Given the description of an element on the screen output the (x, y) to click on. 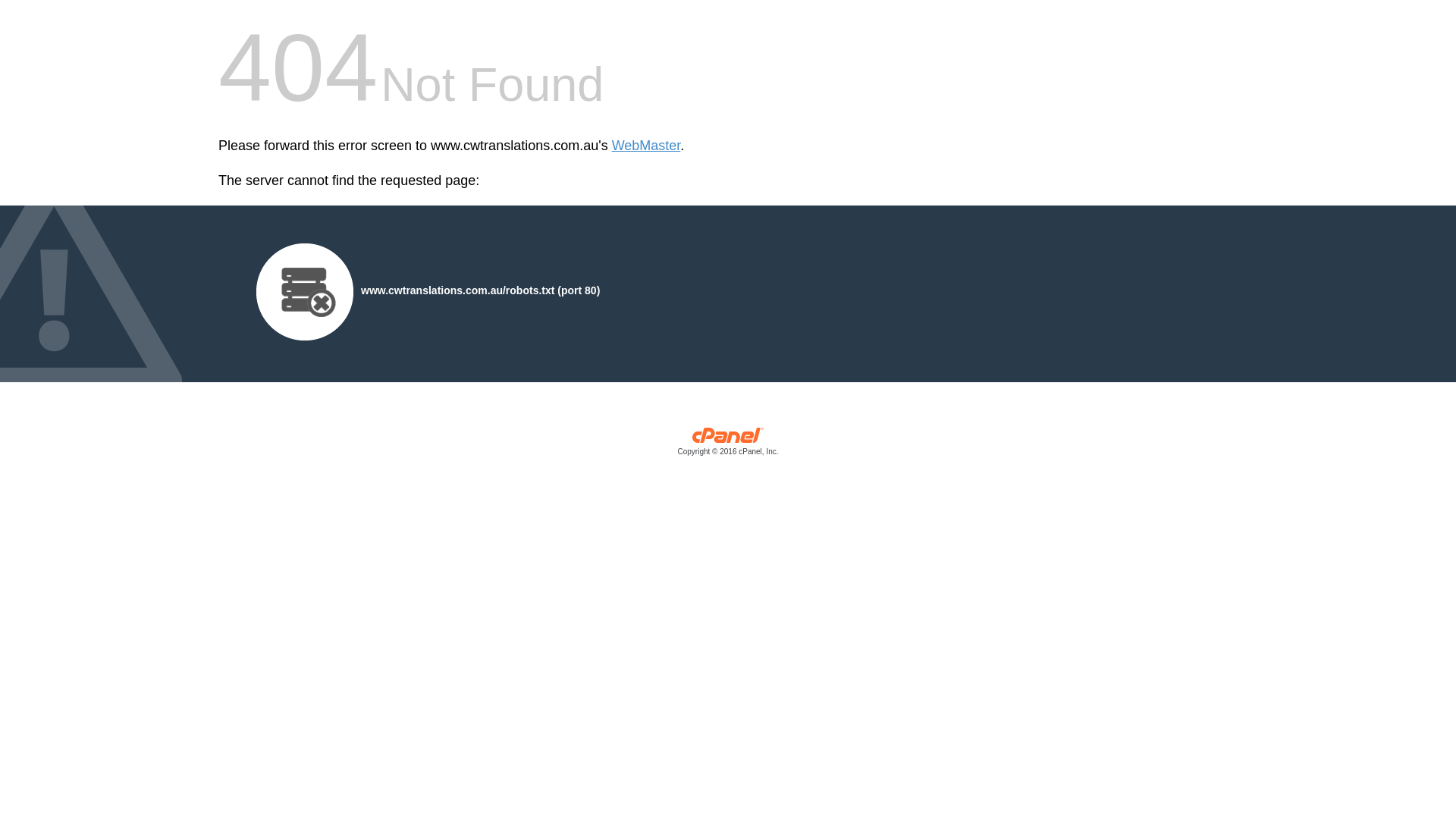
WebMaster Element type: text (645, 145)
